Given the description of an element on the screen output the (x, y) to click on. 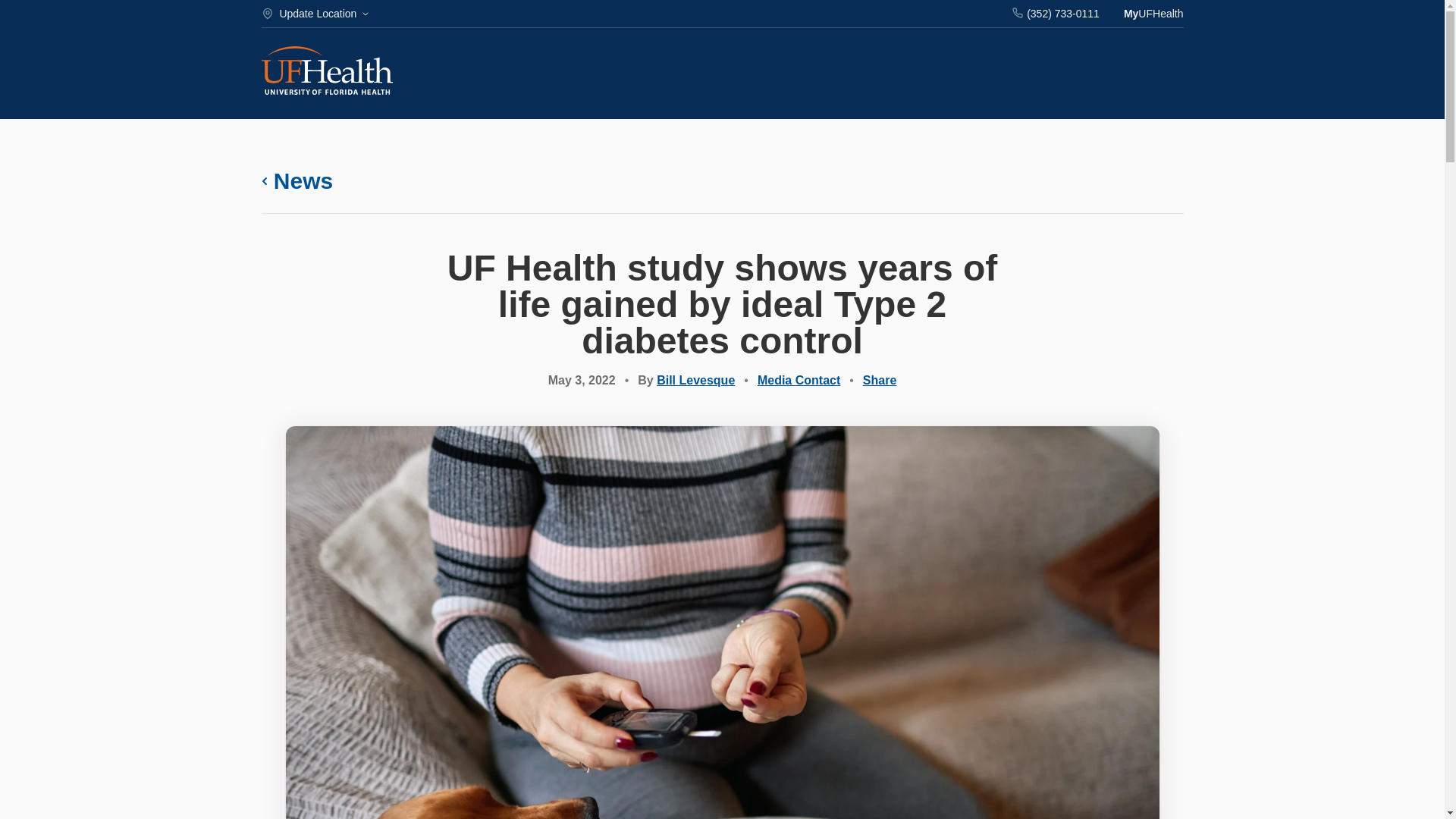
Media Contact (798, 379)
Share (879, 379)
MyUFHealth (1153, 13)
Bill Levesque (695, 379)
UF Health Home (325, 72)
News (296, 180)
